Given the description of an element on the screen output the (x, y) to click on. 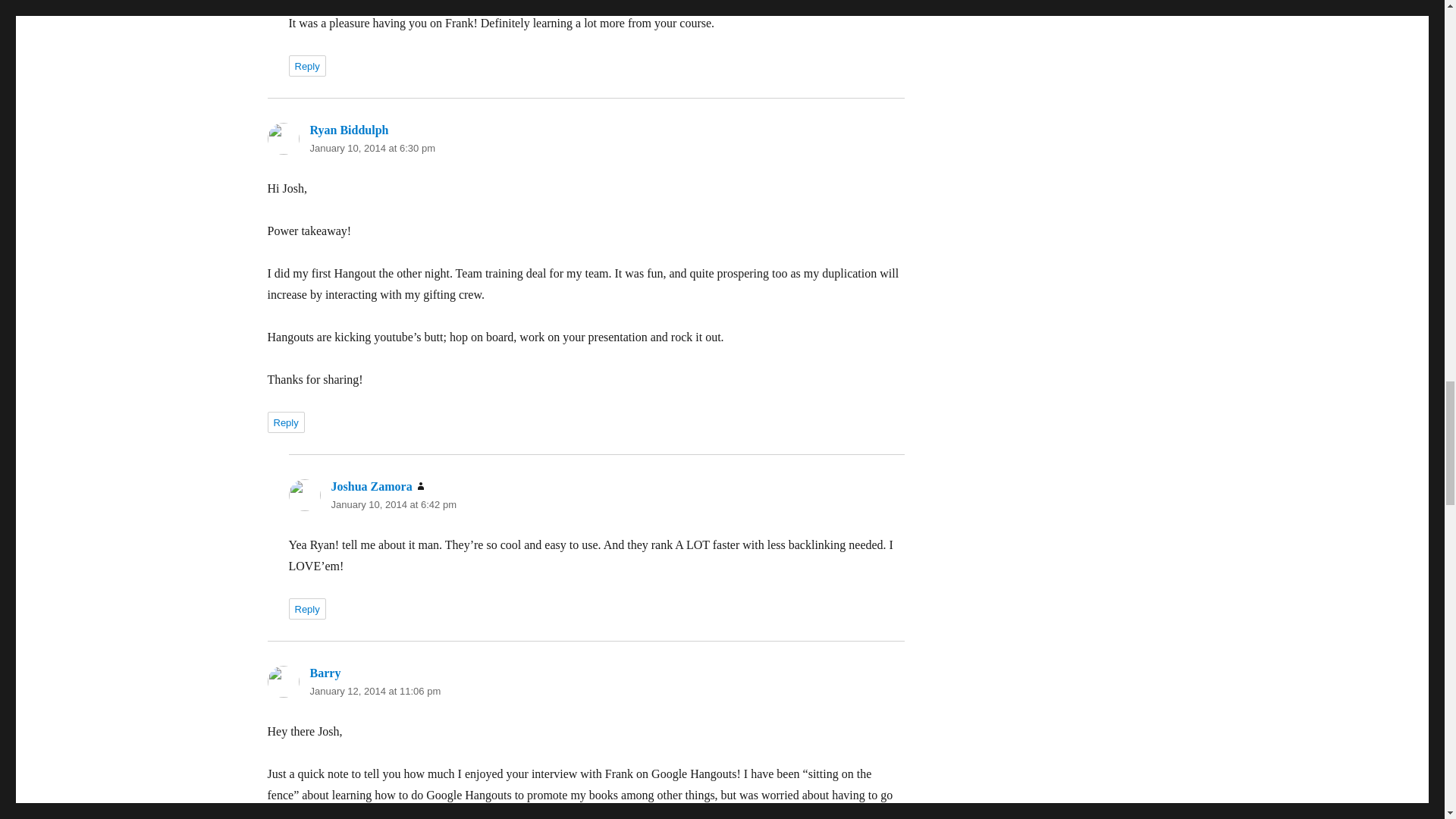
Reply (306, 608)
January 10, 2014 at 6:30 pm (371, 147)
January 10, 2014 at 6:42 pm (393, 504)
January 12, 2014 at 11:06 pm (374, 690)
Barry (324, 672)
Joshua Zamora (371, 486)
Reply (285, 422)
Reply (306, 65)
Ryan Biddulph (348, 129)
